Given the description of an element on the screen output the (x, y) to click on. 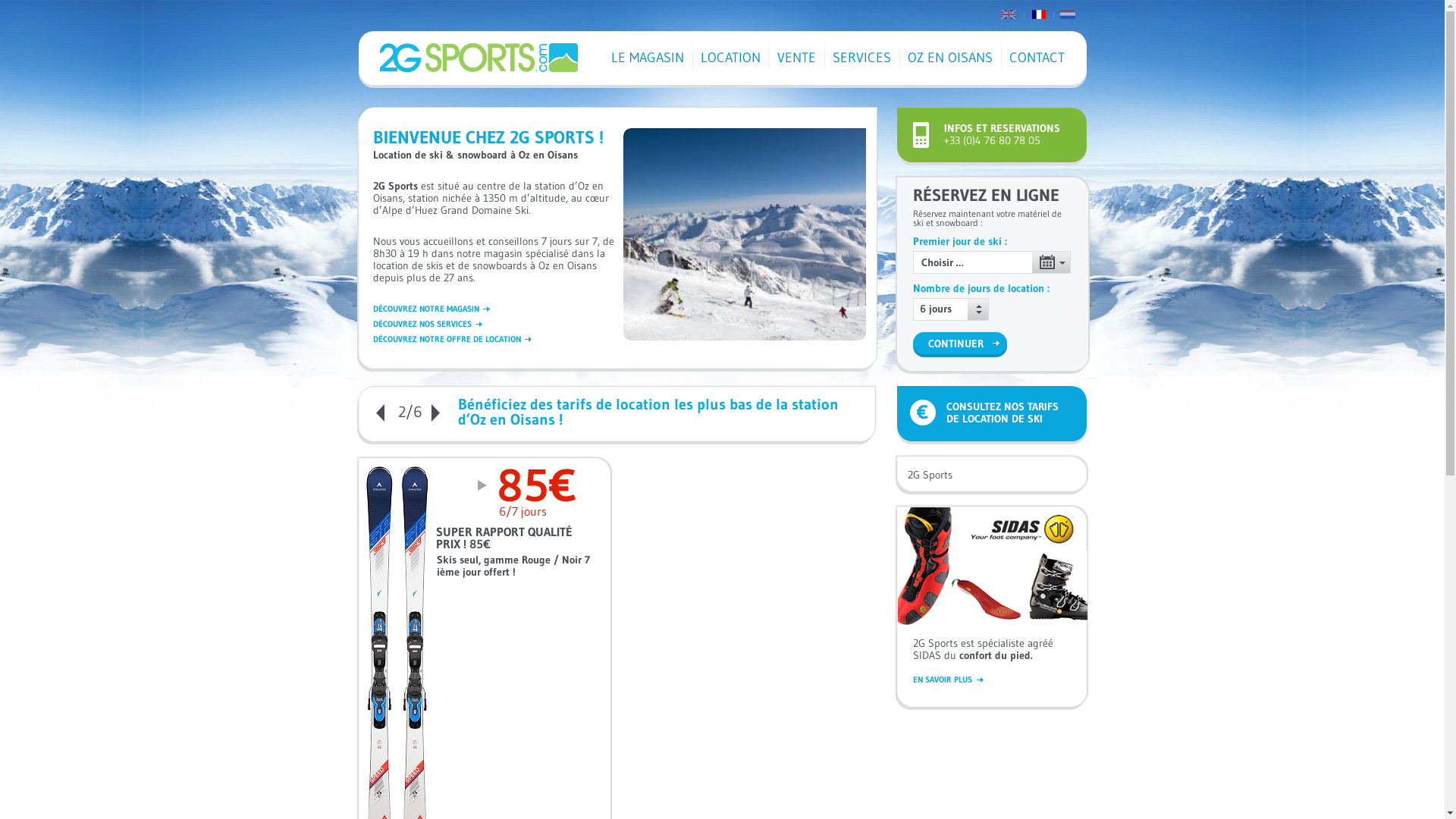
OZ EN OISANS Element type: text (950, 57)
2G Sports Element type: text (928, 474)
CONTACT Element type: text (1037, 57)
VENTE Element type: text (796, 57)
Previous Element type: text (380, 412)
LE MAGASIN Element type: text (646, 57)
SERVICES Element type: text (860, 57)
LOCATION Element type: text (729, 57)
EN SAVOIR PLUS Element type: text (948, 679)
... Element type: hover (1050, 262)
Next Element type: text (434, 412)
Continuer Element type: text (956, 343)
